Given the description of an element on the screen output the (x, y) to click on. 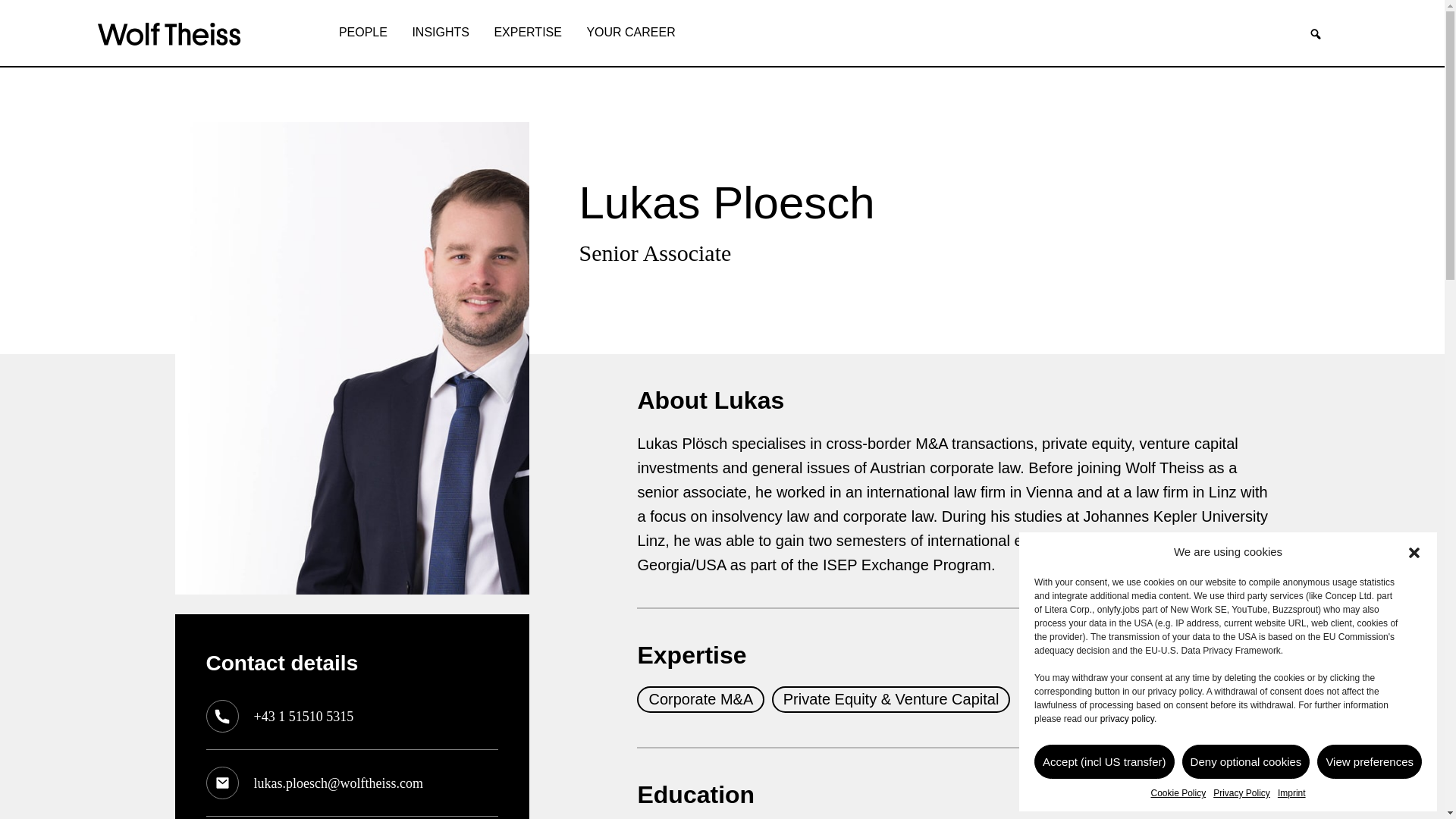
Imprint (1292, 793)
View preferences (1369, 761)
Cookie Policy (1177, 793)
privacy policy (1127, 718)
PEOPLE (363, 32)
Privacy Policy (1240, 793)
INSIGHTS (440, 32)
EXPERTISE (527, 32)
Deny optional cookies (1246, 761)
